Given the description of an element on the screen output the (x, y) to click on. 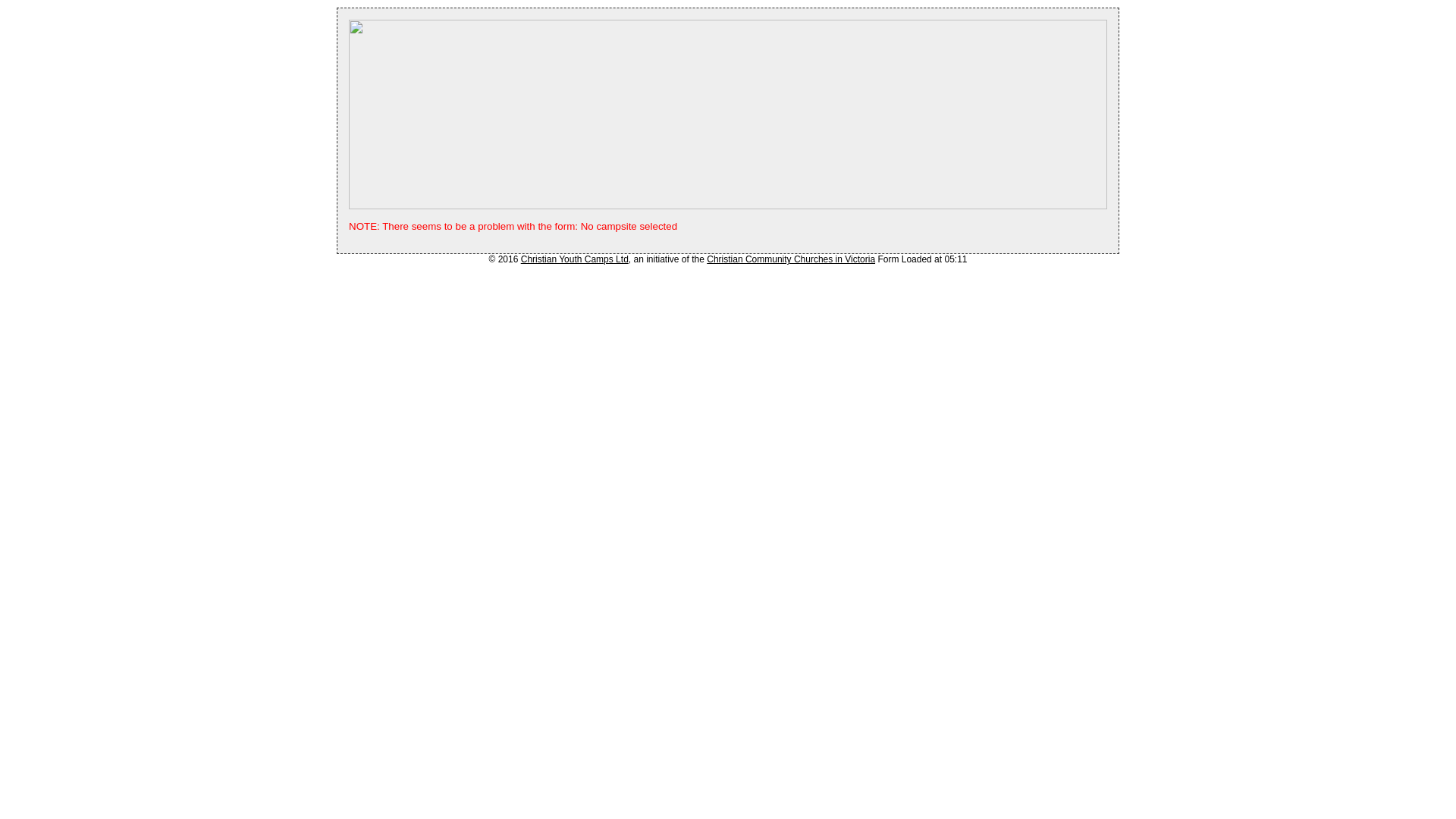
Christian Youth Camps Ltd Element type: text (574, 259)
Christian Community Churches in Victoria Element type: text (790, 259)
